Given the description of an element on the screen output the (x, y) to click on. 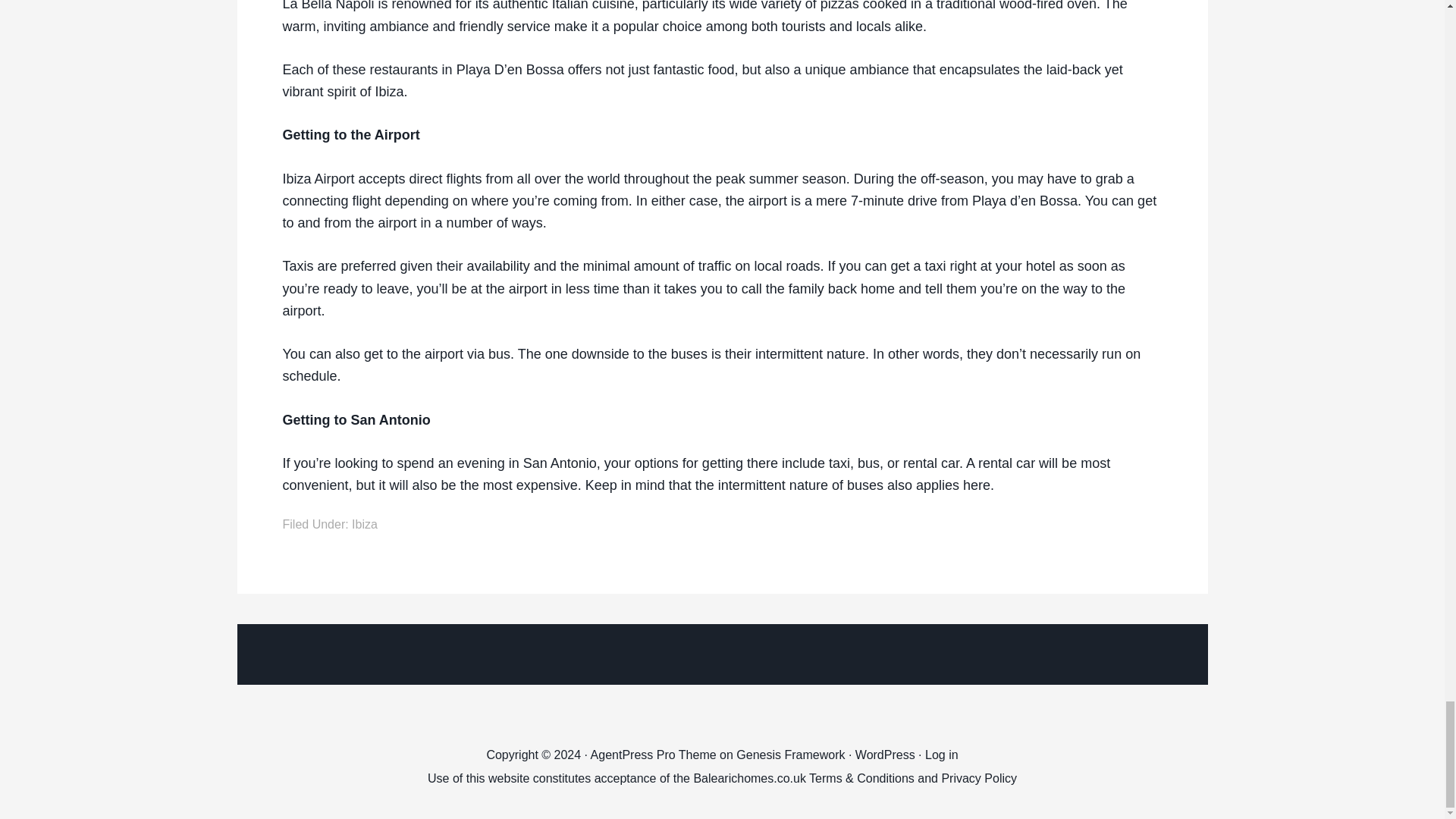
AgentPress Pro Theme (653, 754)
WordPress (885, 754)
Genesis Framework (790, 754)
Log in (941, 754)
Ibiza (364, 523)
